Given the description of an element on the screen output the (x, y) to click on. 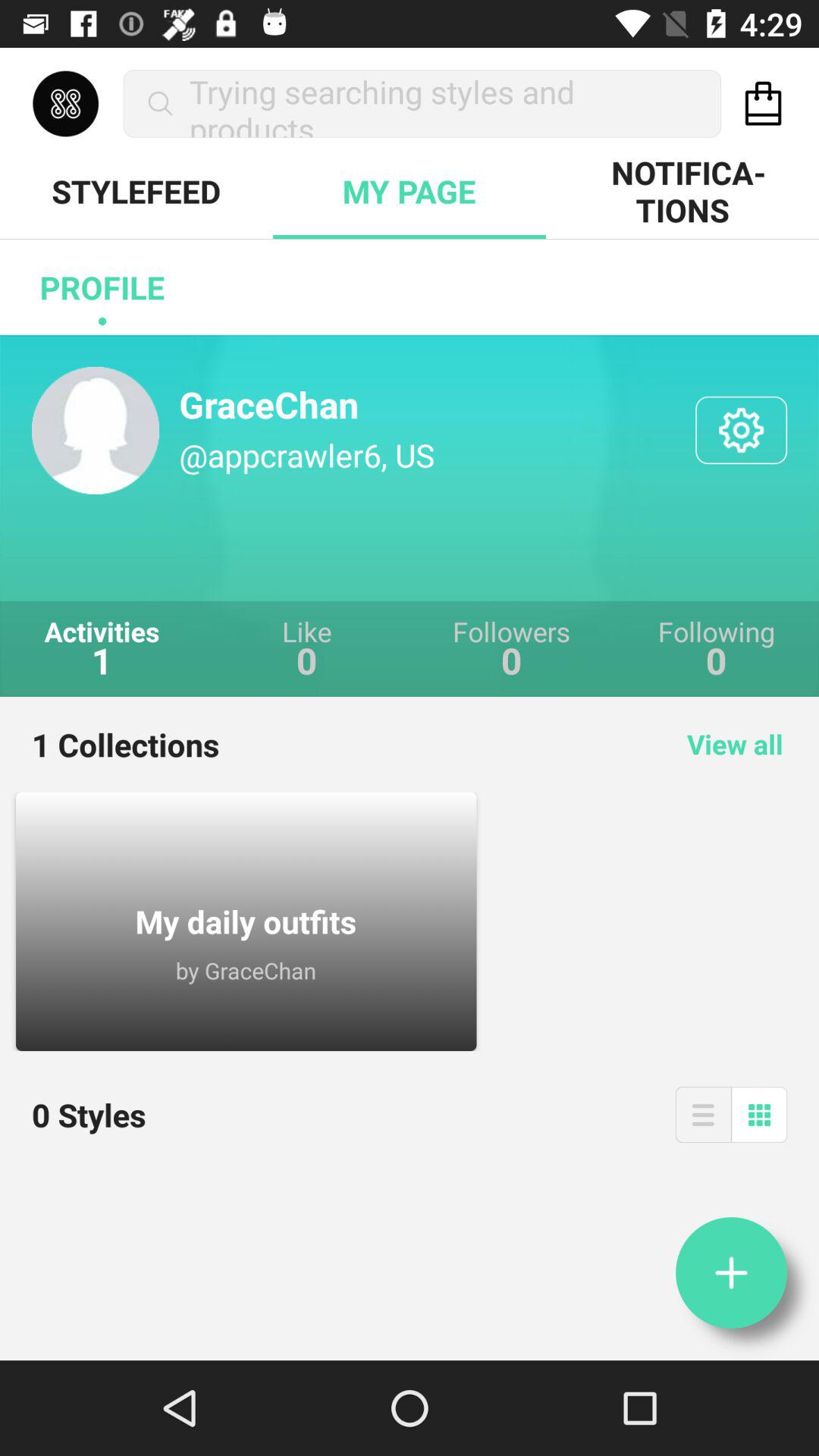
select icon next to the trying searching styles item (763, 103)
